Given the description of an element on the screen output the (x, y) to click on. 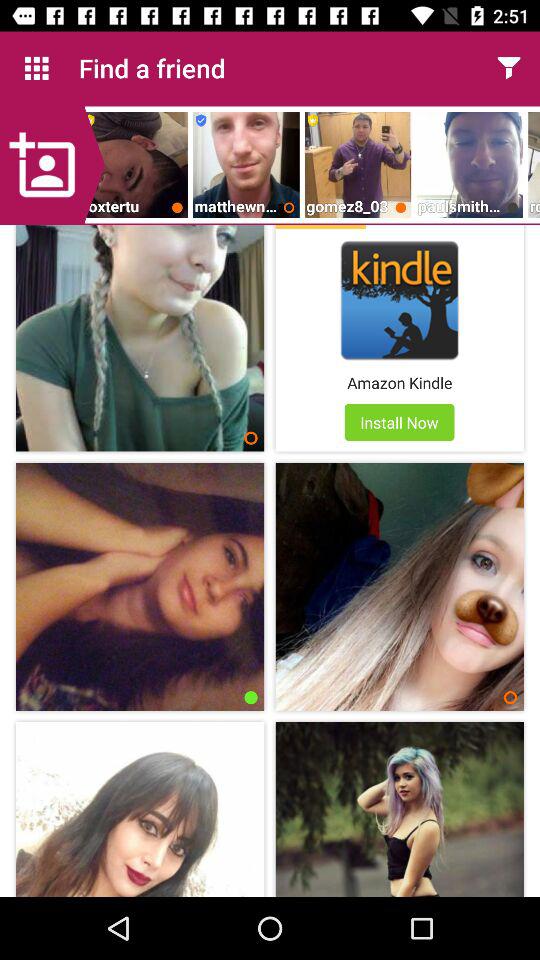
select item to the right of the find a friend icon (508, 67)
